Given the description of an element on the screen output the (x, y) to click on. 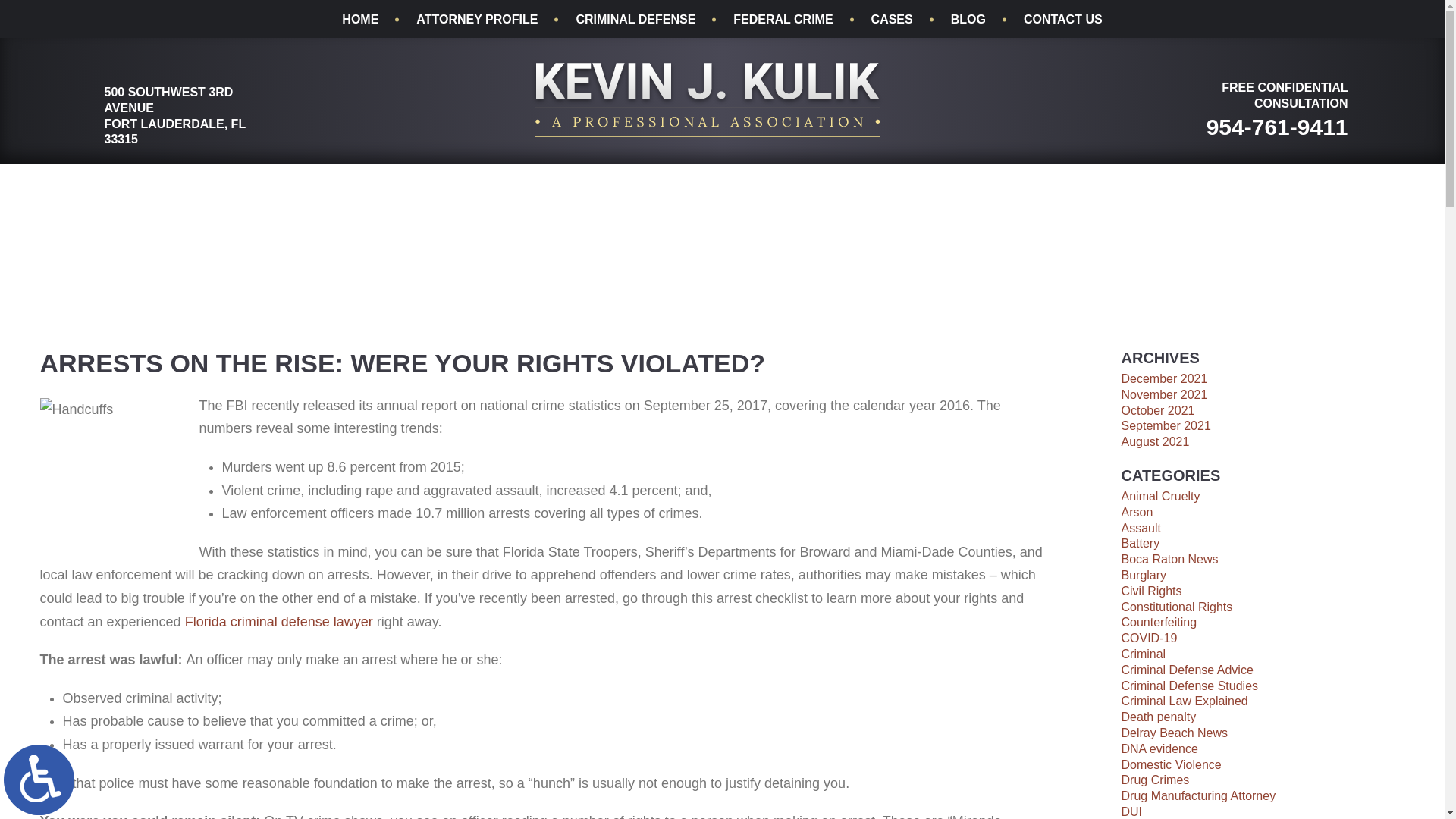
CASES (891, 19)
Fort Lauderdale Criminal Attorney (706, 98)
Counterfeiting (1158, 621)
CRIMINAL DEFENSE (635, 19)
November 2021 (1164, 394)
Criminal Defense Advice (1186, 669)
December 2021 (1164, 378)
Animal Cruelty (1160, 495)
Criminal Law Explained (1184, 700)
Criminal (1143, 653)
COVID-19 (1148, 637)
Arson (1137, 512)
Handcuffs (114, 473)
ATTORNEY PROFILE (476, 19)
Civil Rights (1150, 590)
